Given the description of an element on the screen output the (x, y) to click on. 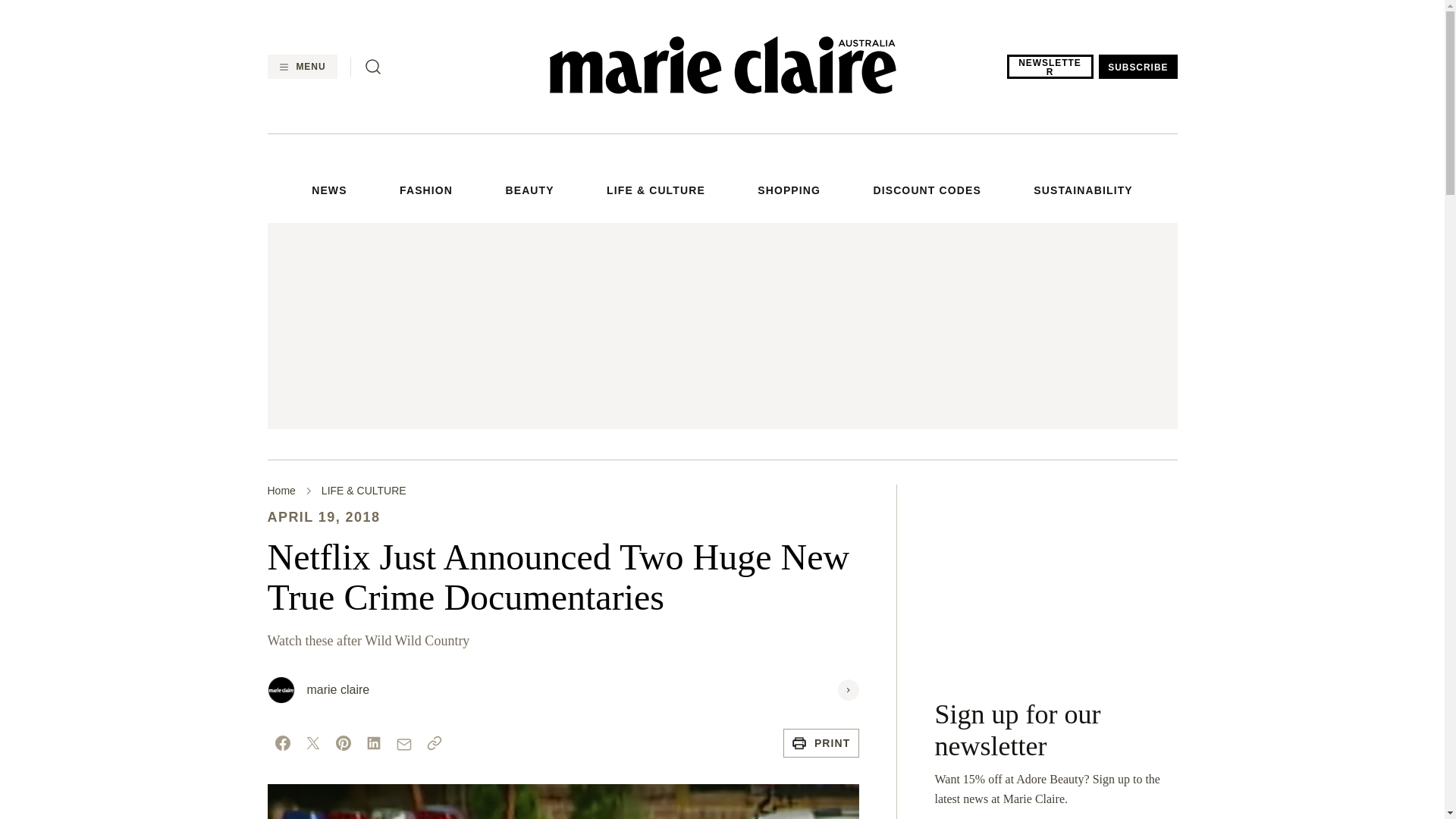
BEAUTY (529, 190)
FASHION (425, 190)
MENU (301, 66)
SUSTAINABILITY (1082, 190)
NEWSLETTER (1050, 66)
SUBSCRIBE (1137, 66)
NEWS (328, 190)
SHOPPING (789, 190)
DISCOUNT CODES (925, 190)
